Given the description of an element on the screen output the (x, y) to click on. 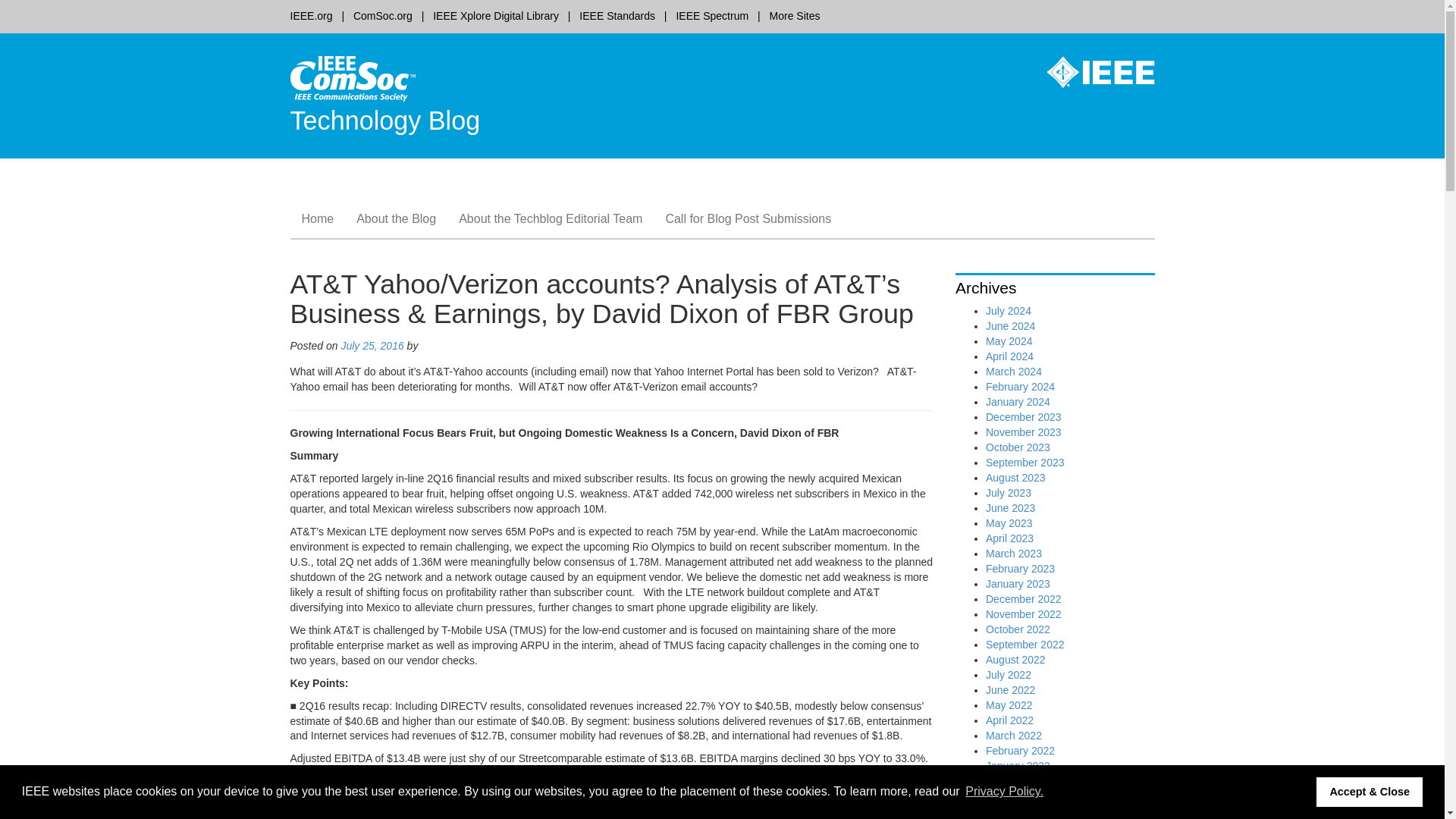
November 2023 (1023, 431)
July 2024 (1007, 310)
IEEE Xplore Digital Library (495, 15)
December 2023 (1023, 417)
May 2023 (1008, 522)
IEEE (1088, 72)
Home (317, 218)
ComSoc.org (382, 15)
July 2023 (1007, 492)
About the Blog (395, 218)
IEEE.org (310, 15)
June 2023 (1010, 508)
Technology Blog (384, 120)
September 2023 (1024, 462)
